Given the description of an element on the screen output the (x, y) to click on. 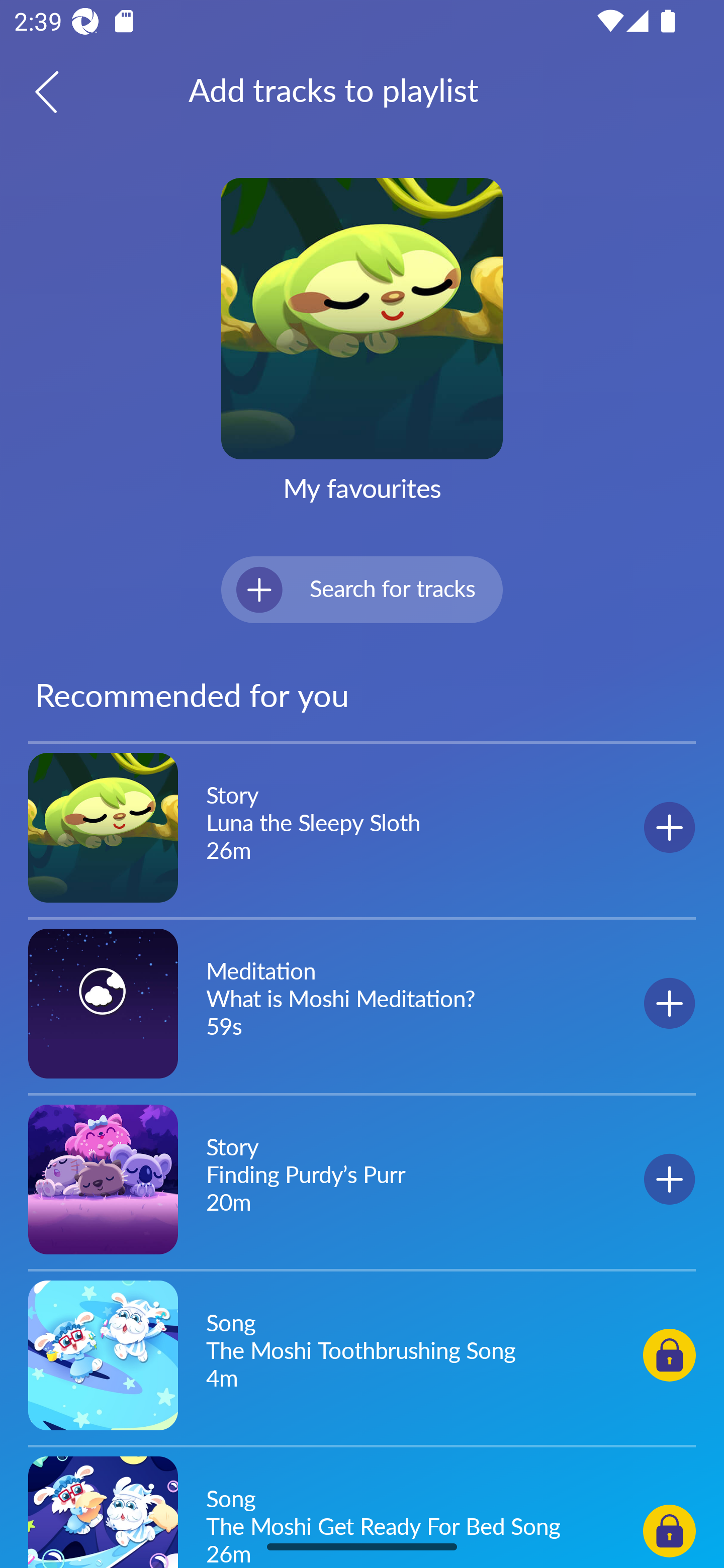
icon Search for tracks (361, 589)
Story Luna the Sleepy Sloth 26m (361, 827)
Meditation What is Moshi Meditation? 59s (361, 1003)
Story Finding Purdy’s Purr 20m (361, 1179)
Song The Moshi Toothbrushing Song 4m (361, 1354)
Song The Moshi Get Ready For Bed Song 26m (361, 1509)
